Given the description of an element on the screen output the (x, y) to click on. 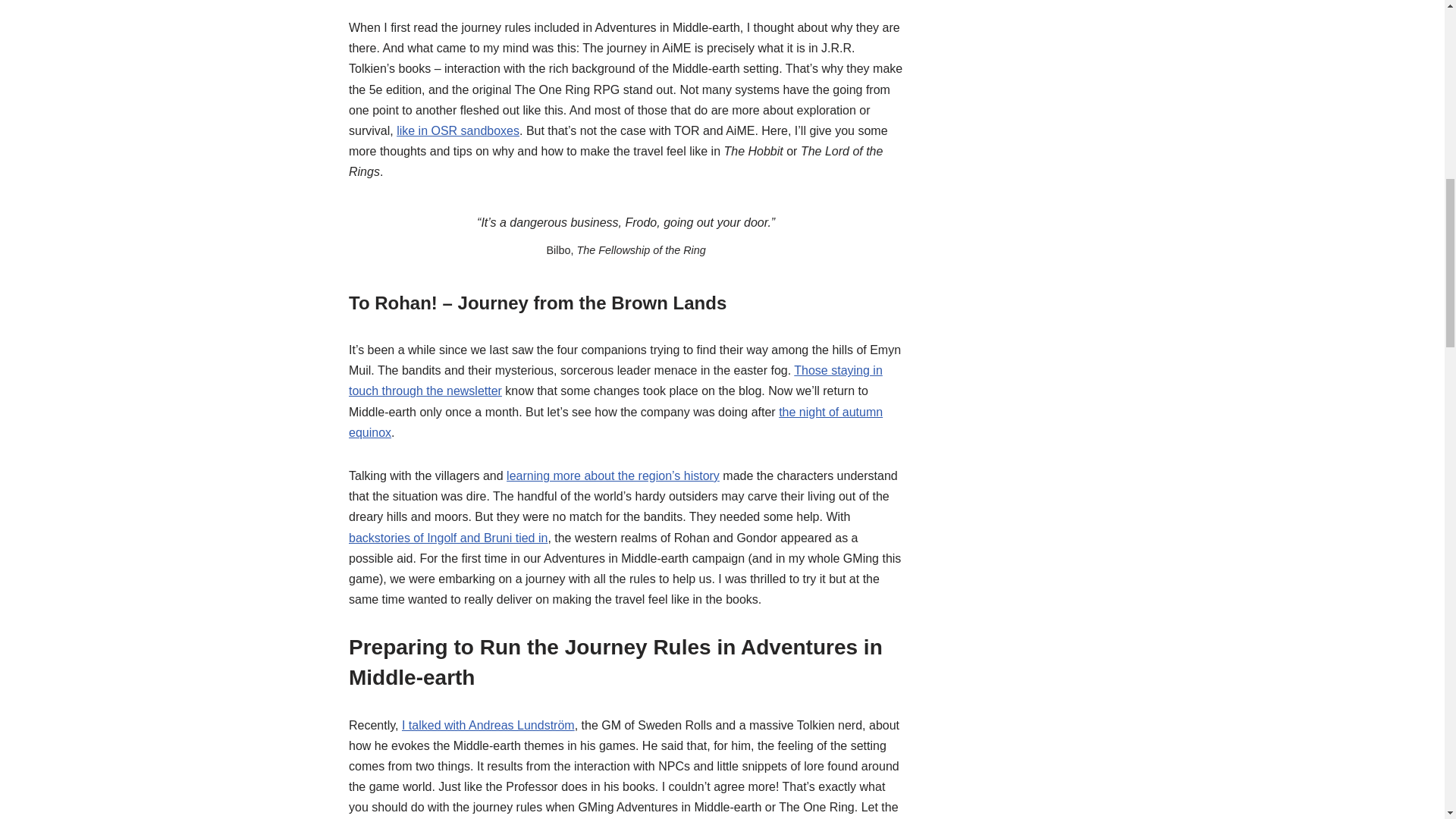
like in OSR sandboxes (457, 130)
the night of autumn equinox (615, 421)
backstories of Ingolf and Bruni tied in (448, 537)
Those staying in touch through the newsletter (615, 380)
